Given the description of an element on the screen output the (x, y) to click on. 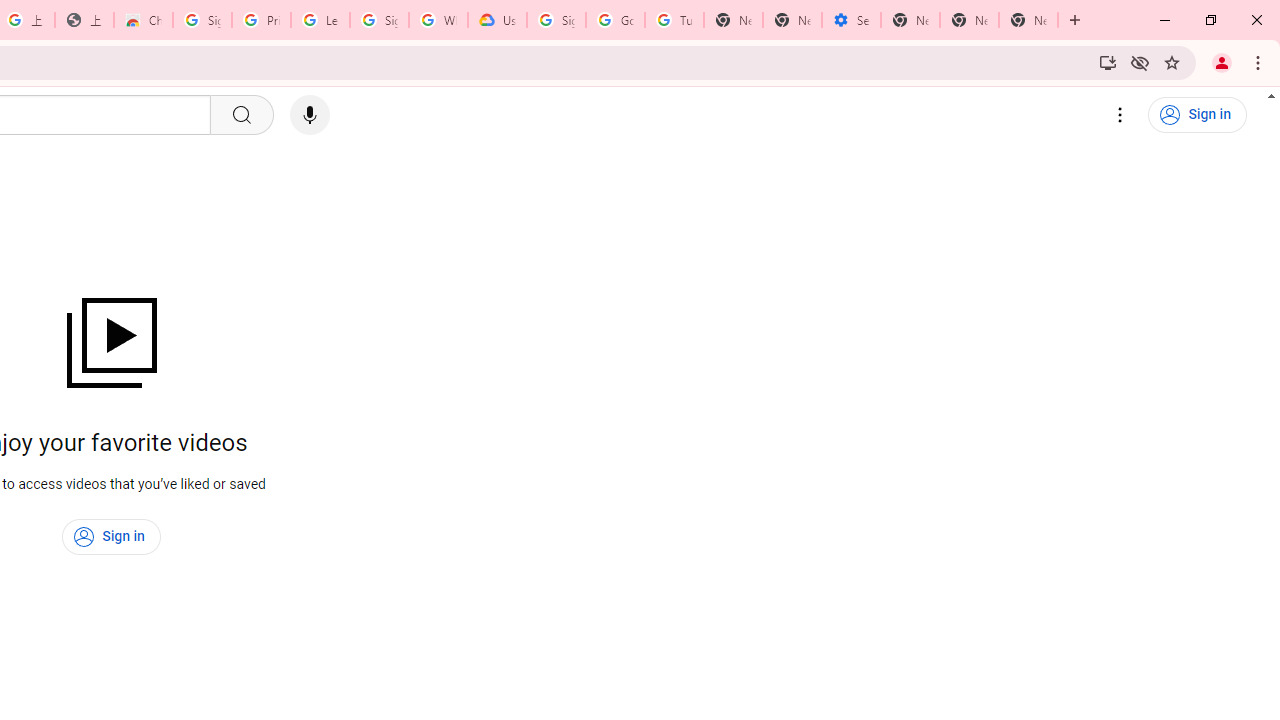
Google Account Help (615, 20)
Chrome Web Store (142, 20)
Sign in - Google Accounts (556, 20)
Sign in - Google Accounts (201, 20)
Install YouTube (1107, 62)
Settings - Addresses and more (850, 20)
